Given the description of an element on the screen output the (x, y) to click on. 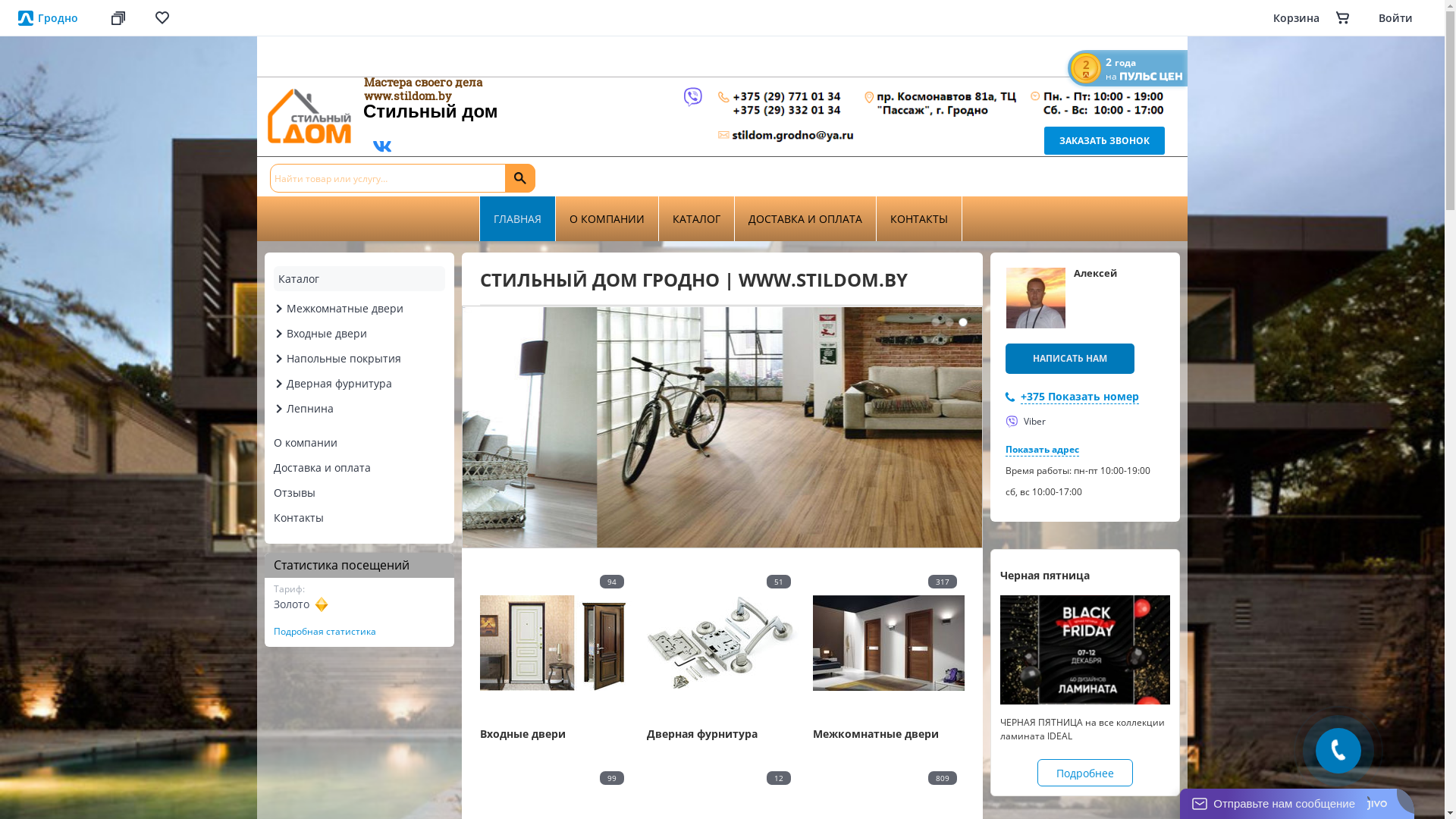
Viber Element type: text (1025, 421)
